Given the description of an element on the screen output the (x, y) to click on. 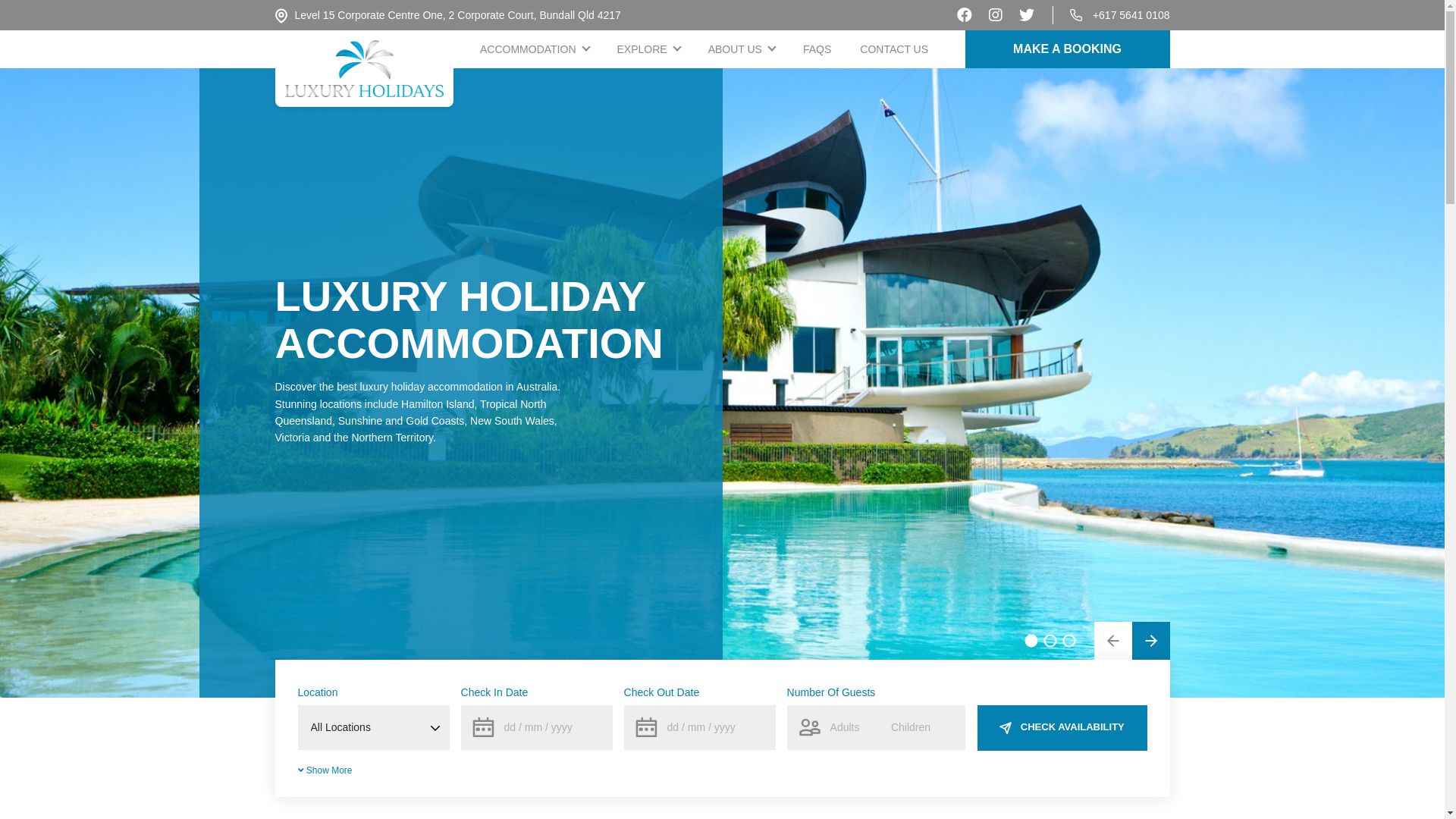
Children Element type: hover (922, 727)
3 Element type: text (1068, 640)
FAQS Element type: text (816, 49)
Follow us on Twitter Element type: text (1026, 15)
Dropdown Element type: hover (585, 48)
2 Element type: text (1050, 640)
Prev Element type: hover (1112, 640)
Like us on Facebook Element type: text (964, 15)
Follow us on Instagram Element type: text (995, 15)
MAKE A BOOKING Element type: text (1066, 49)
EXPLORE Element type: text (647, 49)
CHECK AVAILABILITY Element type: text (1061, 727)
Show More Element type: text (324, 770)
Next Element type: hover (1150, 640)
Dropdown Element type: hover (771, 48)
CONTACT US Element type: text (893, 49)
Like us on Facebook Element type: hover (964, 14)
Luxury Holidays Element type: hover (363, 68)
Adults Element type: hover (831, 727)
ABOUT US Element type: text (740, 49)
+617 5641 0108 Element type: text (1131, 15)
ACCOMMODATION Element type: text (533, 49)
1 Element type: text (1030, 640)
Dropdown Element type: hover (676, 48)
Follow us on Twitter Element type: hover (1026, 14)
Follow us on Instagram Element type: hover (995, 14)
